Given the description of an element on the screen output the (x, y) to click on. 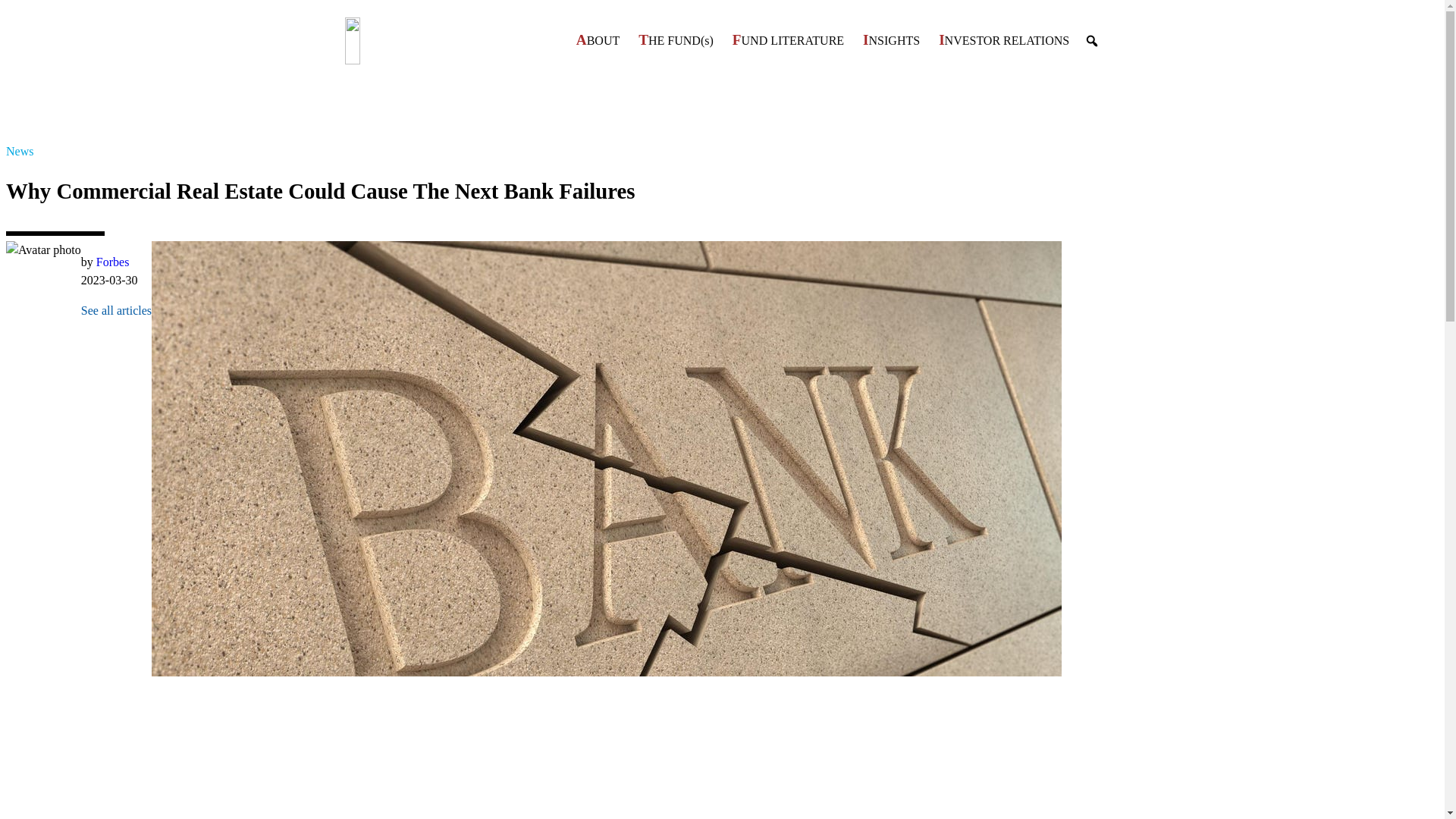
Forbes (112, 261)
FUND LITERATURE (788, 39)
INVESTOR RELATIONS (1004, 39)
INSIGHTS (891, 39)
News (19, 151)
See all articles (116, 309)
Search (13, 11)
